Given the description of an element on the screen output the (x, y) to click on. 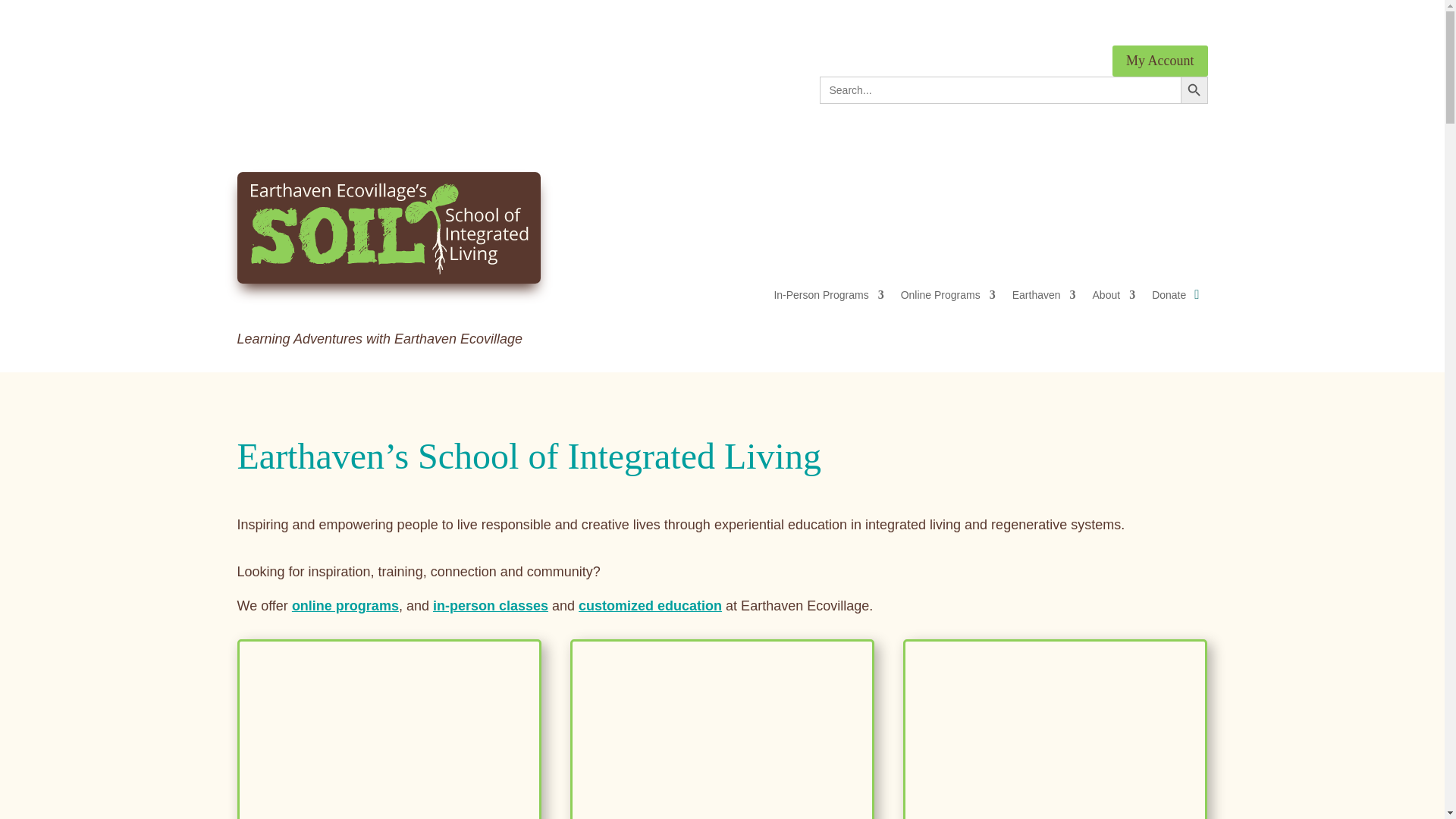
online programs (345, 605)
My Account (1160, 60)
In-Person Programs (828, 297)
in-person classes (490, 605)
customized education (650, 605)
Donate (1168, 297)
Earthaven (1043, 297)
About (1114, 297)
Online Programs (948, 297)
Search Button (1193, 90)
